Given the description of an element on the screen output the (x, y) to click on. 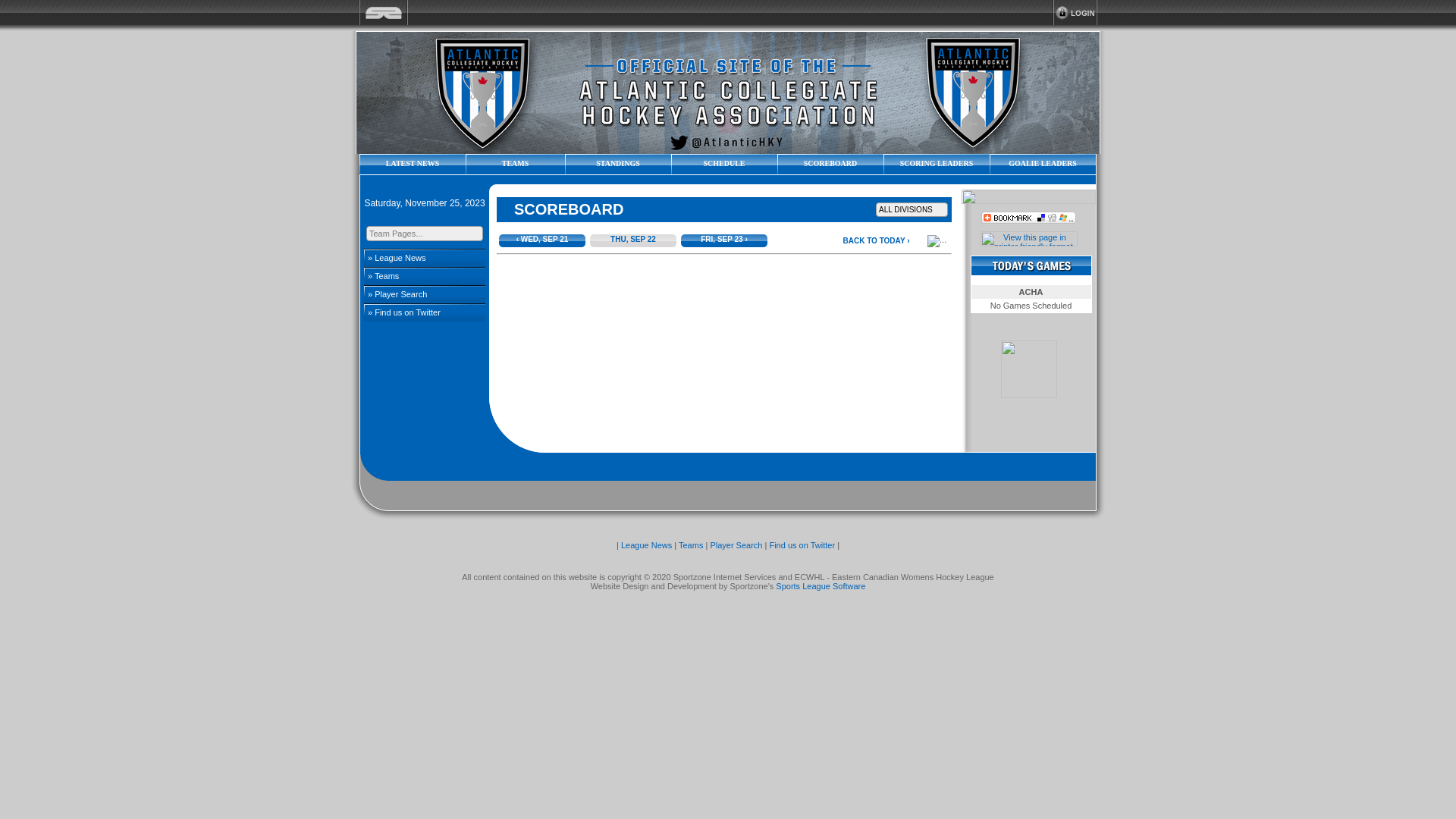
TEAMS Element type: text (514, 164)
Find us on Twitter Element type: text (801, 544)
SCOREBOARD Element type: text (830, 164)
LATEST NEWS Element type: text (412, 164)
... Element type: hover (936, 241)
Sports League Software Element type: text (820, 585)
League News Element type: text (646, 544)
SCHEDULE Element type: text (724, 164)
STANDINGS Element type: text (617, 164)
Teams Element type: text (690, 544)
admin login Element type: hover (1074, 12)
Atlantic Collegiate Hockey Association Element type: hover (727, 92)
SCORING LEADERS Element type: text (936, 164)
sportzone.ca Element type: hover (382, 12)
GOALIE LEADERS Element type: text (1042, 164)
Player Search Element type: text (735, 544)
